Given the description of an element on the screen output the (x, y) to click on. 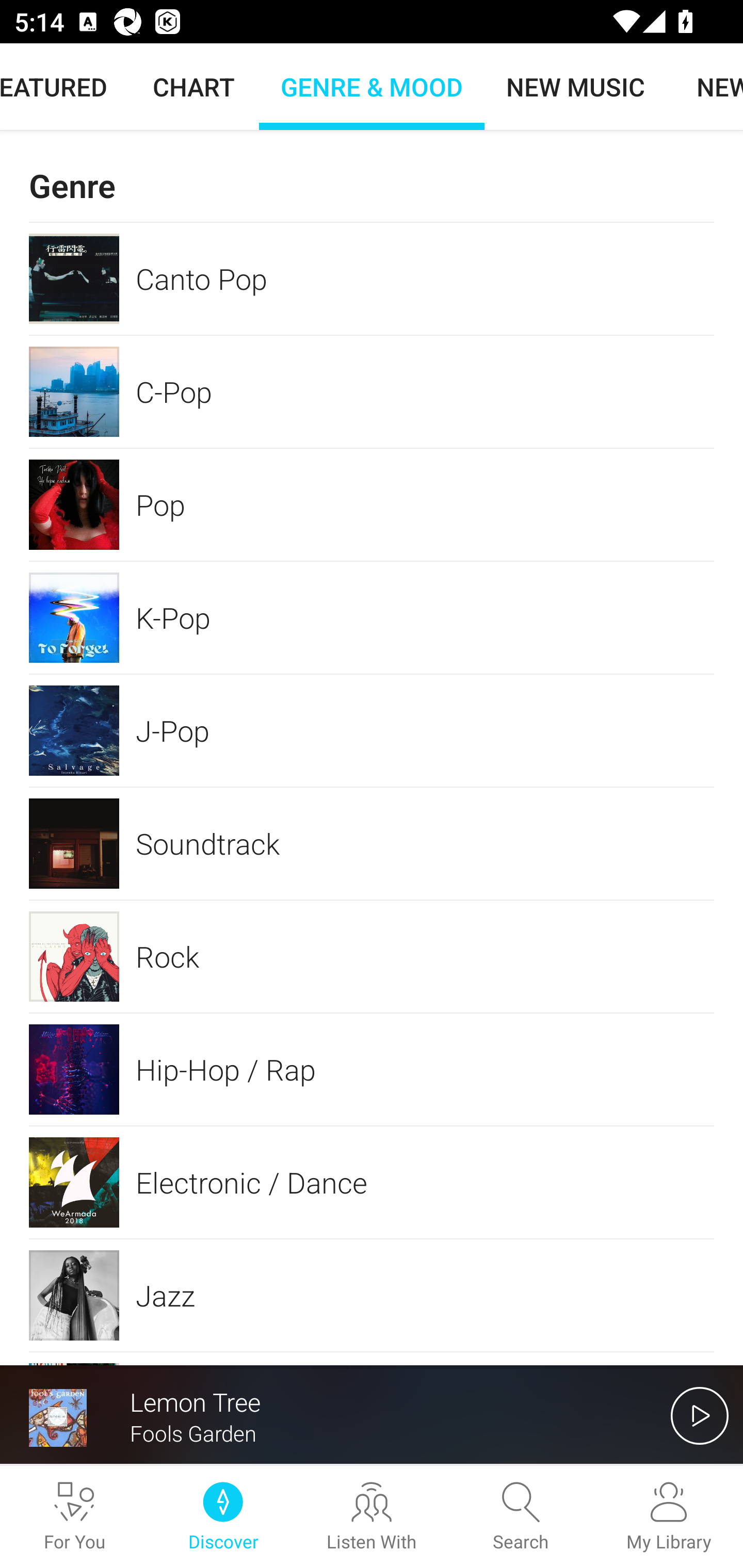
FEATURED (64, 86)
CHART (194, 86)
NEW MUSIC (575, 86)
Canto Pop (371, 277)
C-Pop (371, 391)
Pop (371, 504)
K-Pop (371, 617)
J-Pop (371, 730)
Soundtrack (371, 843)
Rock (371, 956)
Hip-Hop / Rap (371, 1068)
Electronic / Dance (371, 1181)
Jazz (371, 1294)
開始播放 (699, 1415)
For You (74, 1517)
Discover (222, 1517)
Listen With (371, 1517)
Search (519, 1517)
My Library (668, 1517)
